Given the description of an element on the screen output the (x, y) to click on. 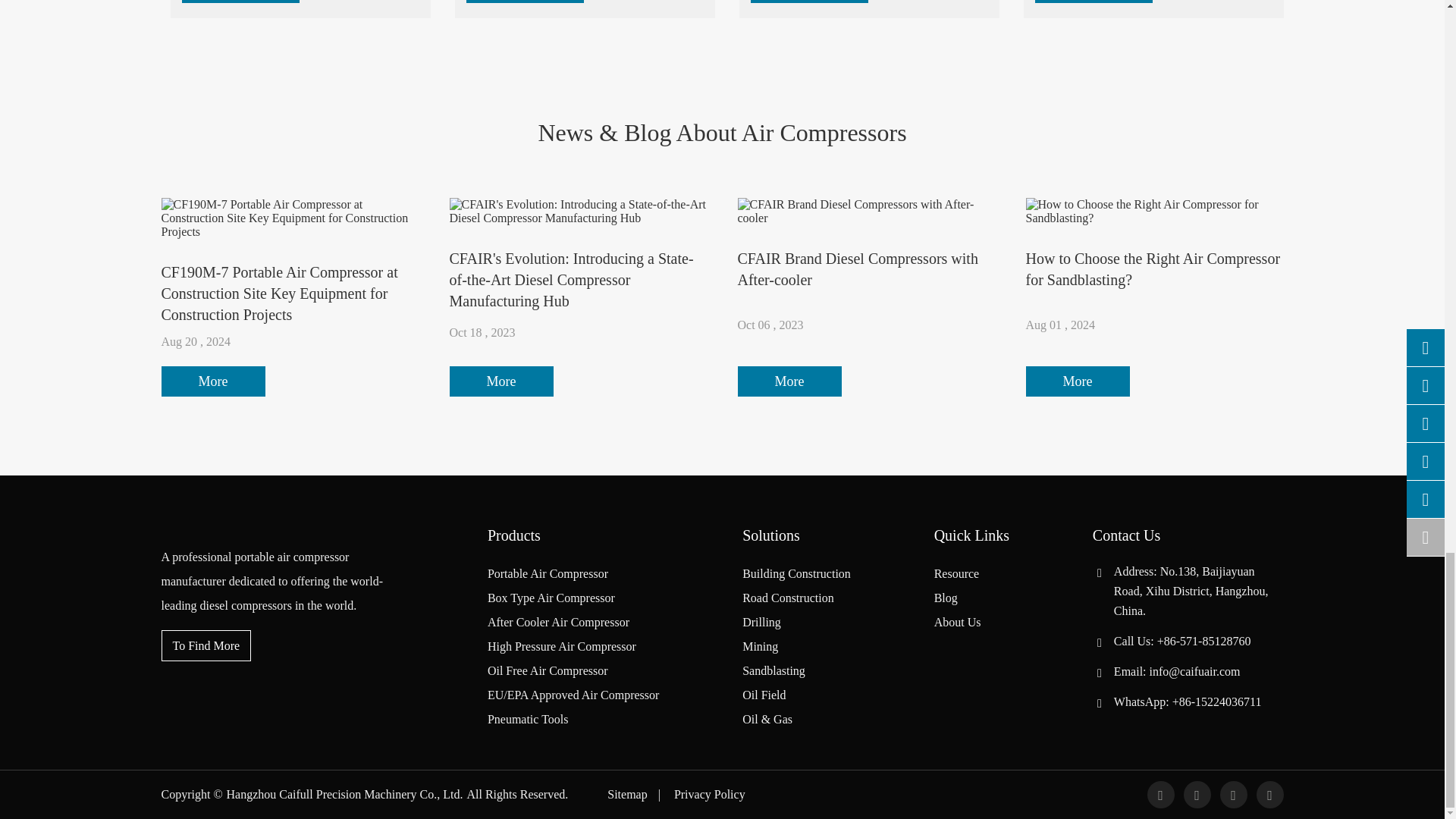
CFAIR Brand Diesel Compressors with After-cooler (865, 211)
